Given the description of an element on the screen output the (x, y) to click on. 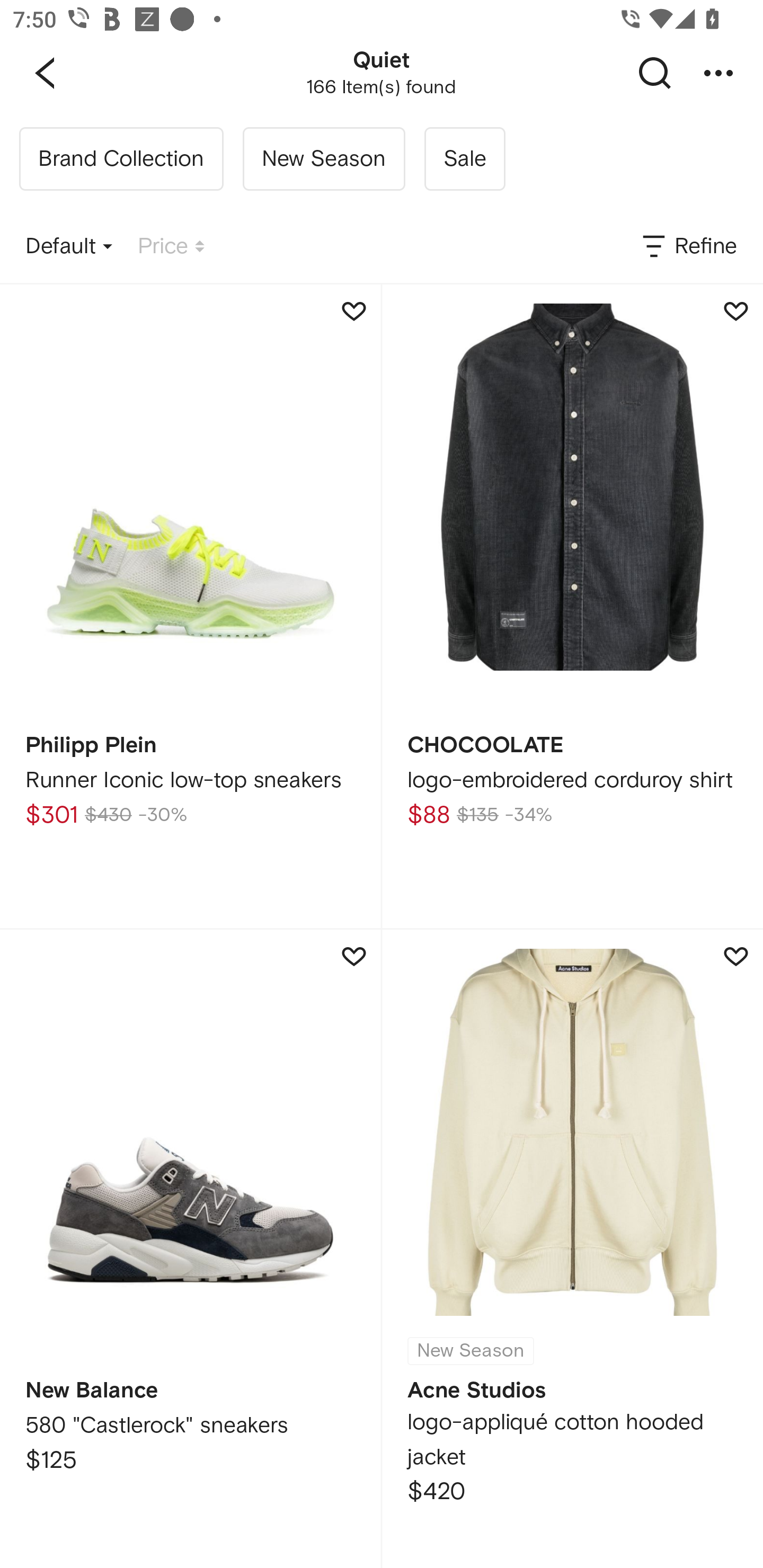
Brand Collection (121, 158)
New Season (323, 158)
Sale (464, 158)
Default (68, 246)
Price (171, 246)
Refine (688, 246)
New Balance 580 "Castlerock" sneakers $125 (190, 1248)
